Given the description of an element on the screen output the (x, y) to click on. 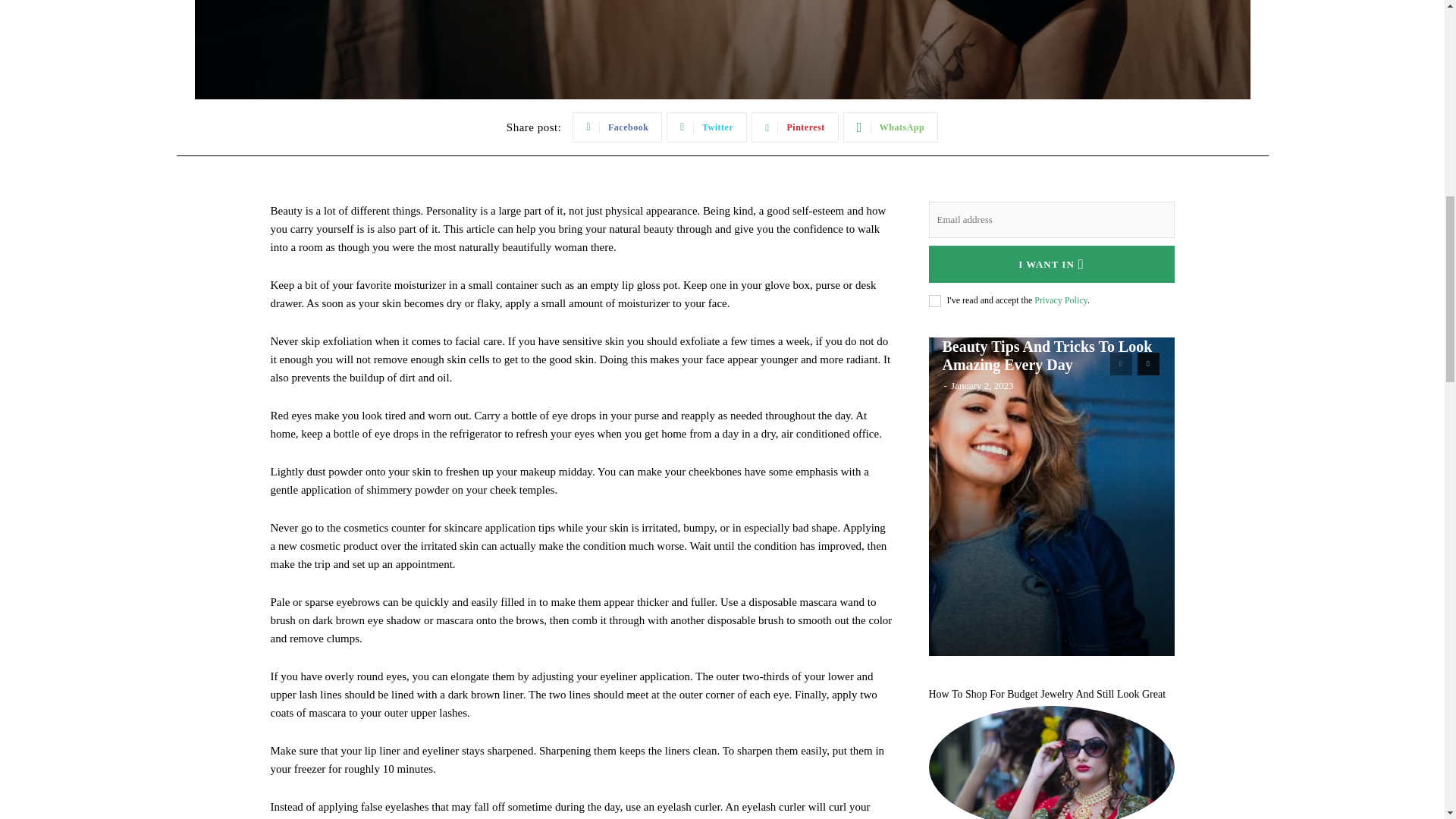
WhatsApp (890, 127)
WhatsApp (890, 127)
Twitter (706, 127)
How To Shop For Budget Jewelry And Still Look Great (1050, 762)
Facebook (617, 127)
Facebook (617, 127)
How To Shop For Budget Jewelry And Still Look Great (1047, 694)
Pinterest (794, 127)
Pinterest (794, 127)
Twitter (706, 127)
Beauty Tips And Tricks To Look Amazing Every Day (1046, 355)
